Given the description of an element on the screen output the (x, y) to click on. 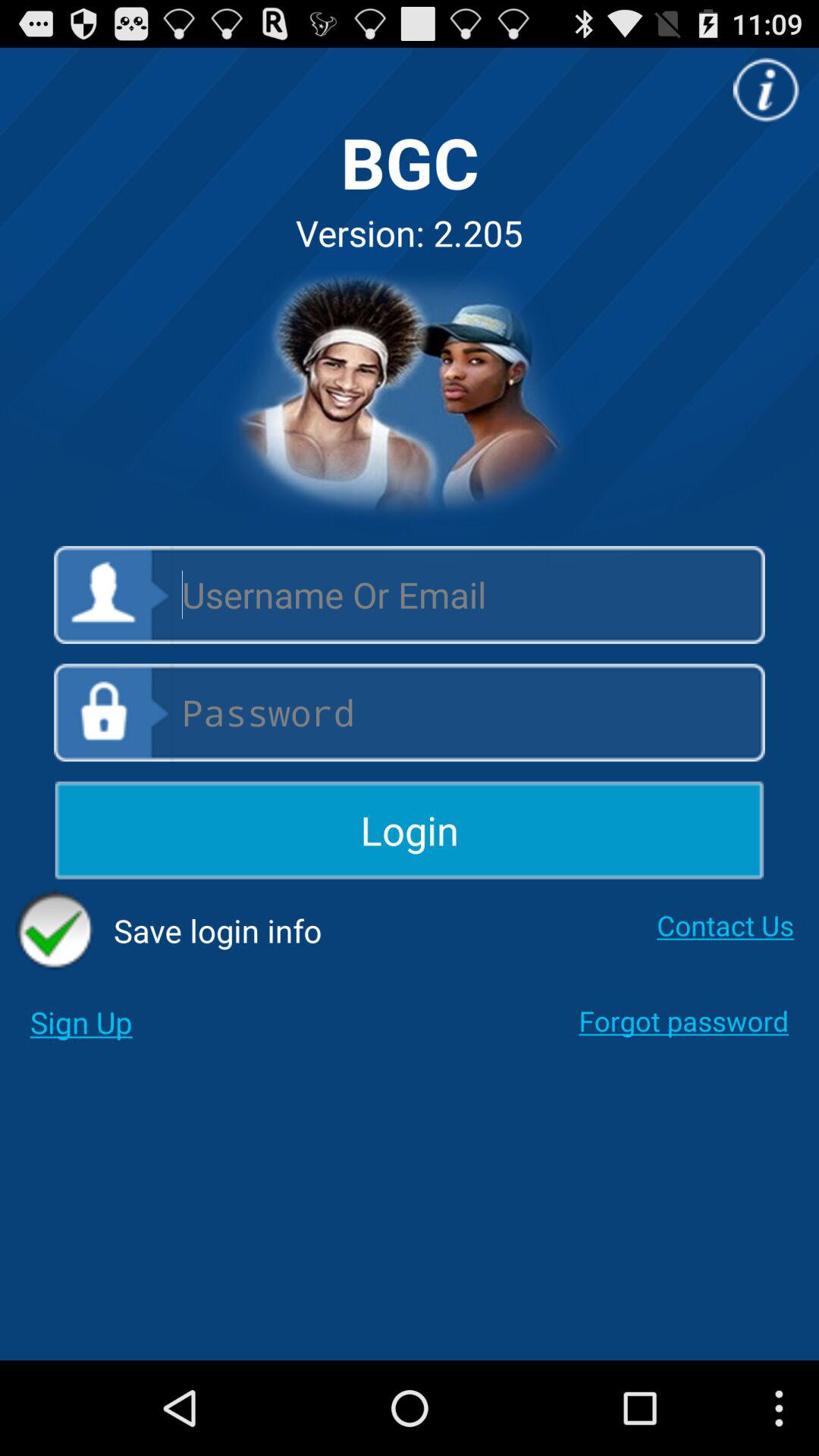
turn on the forgot password (683, 1020)
